Given the description of an element on the screen output the (x, y) to click on. 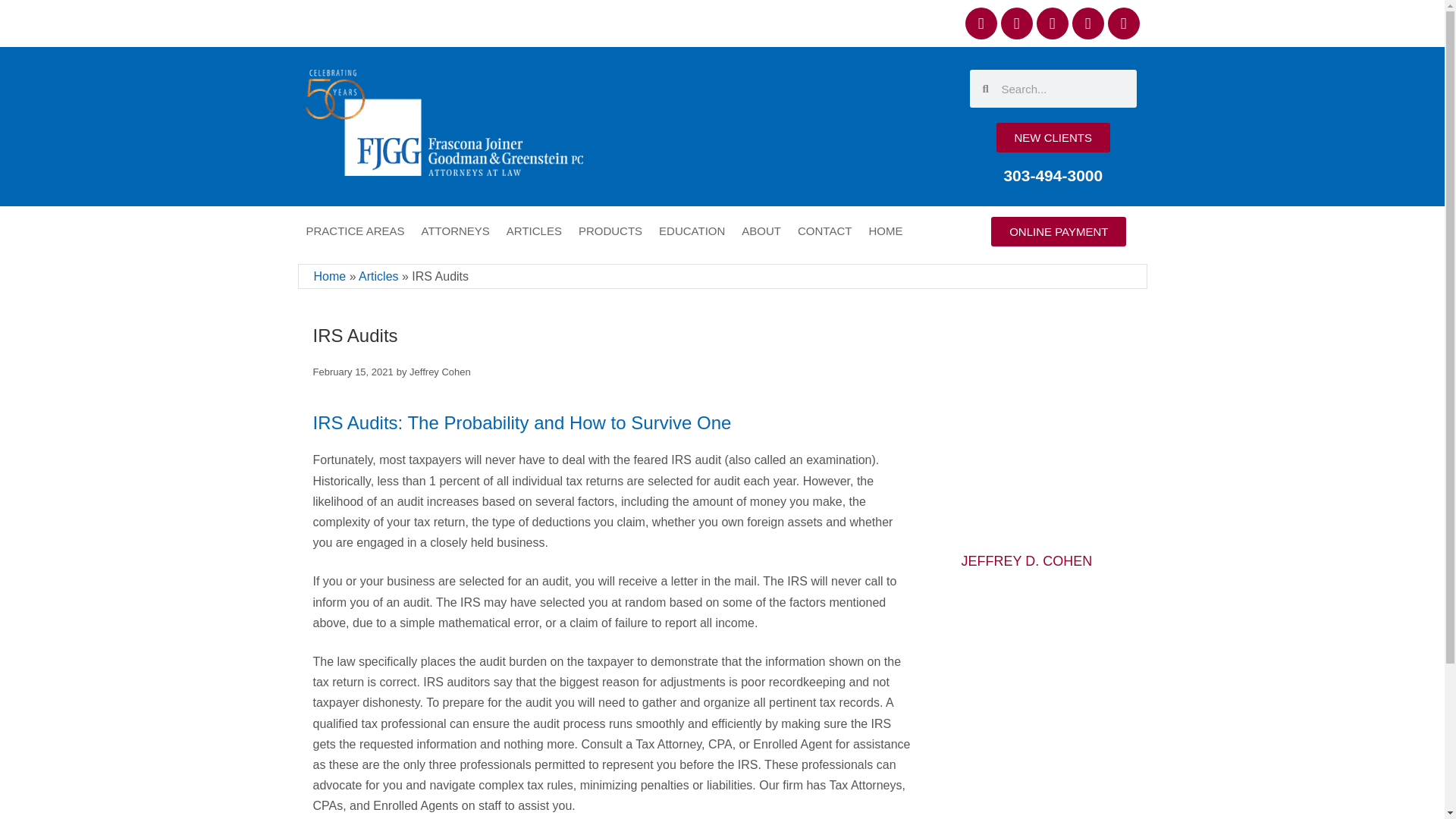
NEW CLIENTS (1052, 137)
PRACTICE AREAS (354, 230)
ATTORNEYS (455, 230)
